Given the description of an element on the screen output the (x, y) to click on. 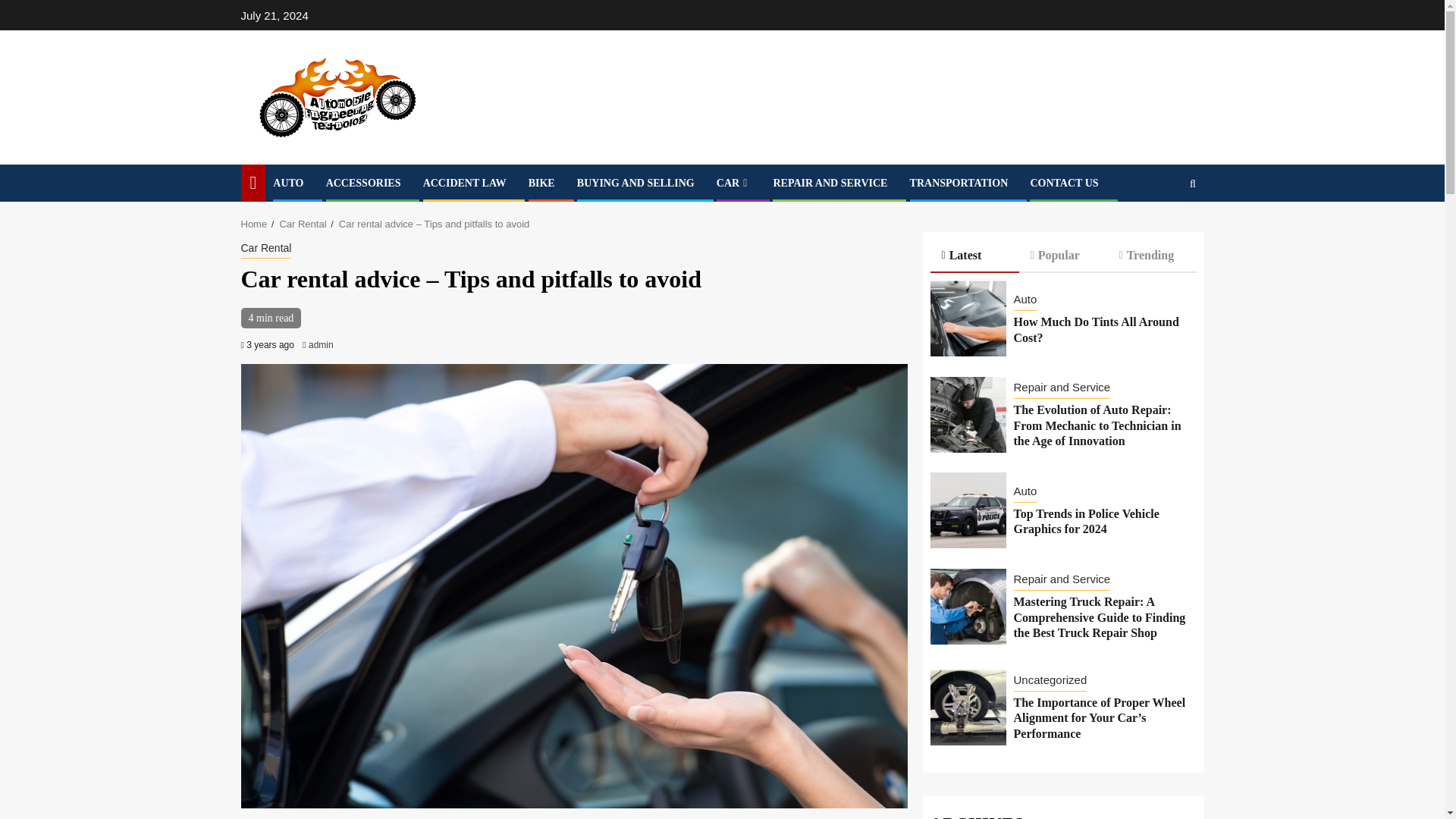
TRANSPORTATION (959, 183)
How Much Do Tints All Around Cost? (1095, 329)
Trending (1150, 255)
admin (320, 344)
ACCESSORIES (363, 183)
CAR (733, 183)
Search (1163, 228)
Car Rental (302, 224)
Latest (973, 256)
ACCIDENT LAW (464, 183)
Car Rental (266, 248)
Auto (1024, 301)
REPAIR AND SERVICE (829, 183)
Repair and Service (1061, 388)
BIKE (541, 183)
